Given the description of an element on the screen output the (x, y) to click on. 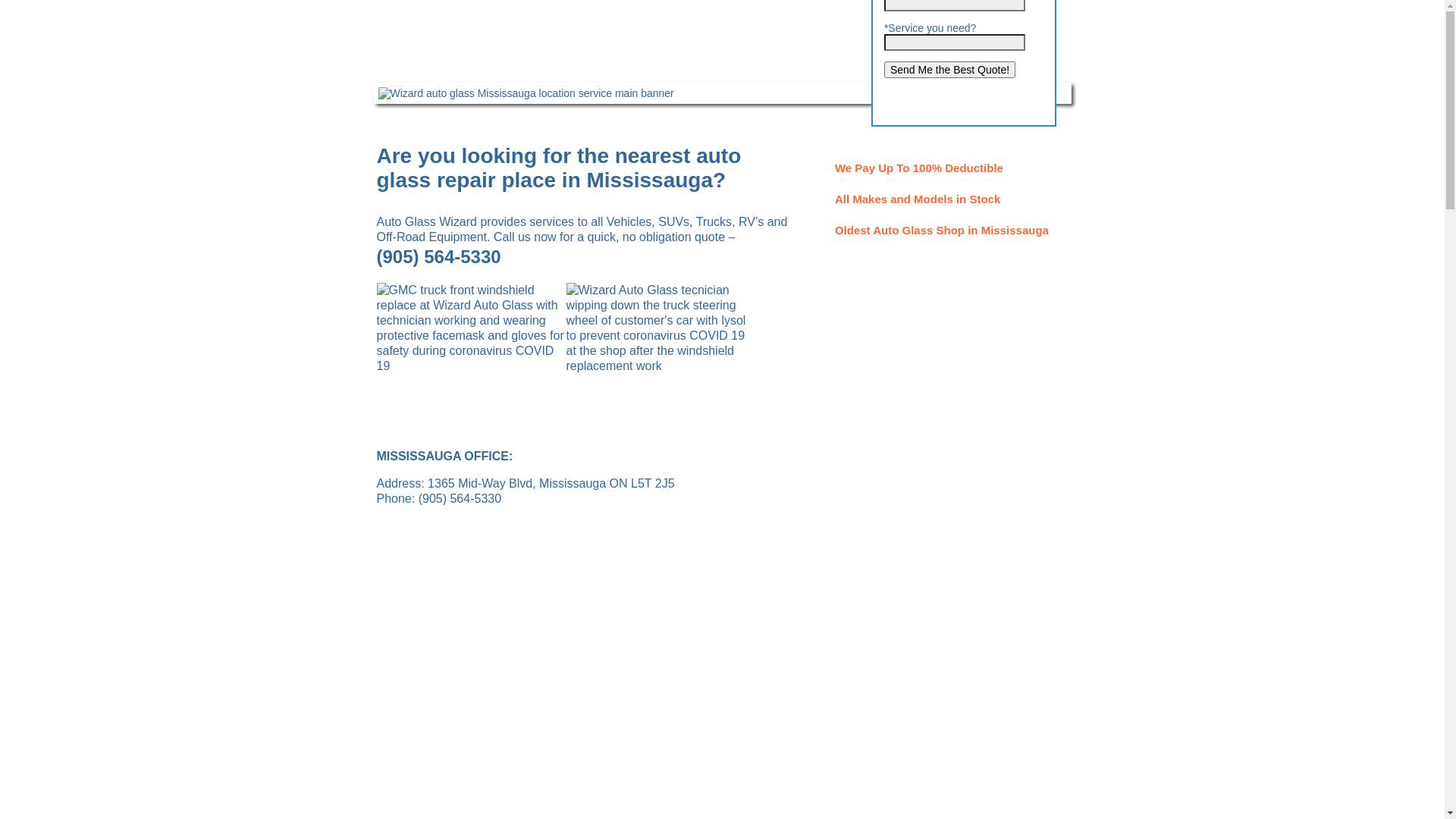
Home Element type: text (411, 66)
Send Me the Best Quote! Element type: text (949, 69)
Vandalism Claims Element type: text (811, 66)
(905) 564-5330 Element type: text (438, 257)
Services Element type: text (494, 66)
About Us Element type: text (924, 66)
Contact Us Element type: text (1020, 66)
Lifetime Warranty Element type: text (604, 66)
FAQs Element type: text (707, 66)
